Given the description of an element on the screen output the (x, y) to click on. 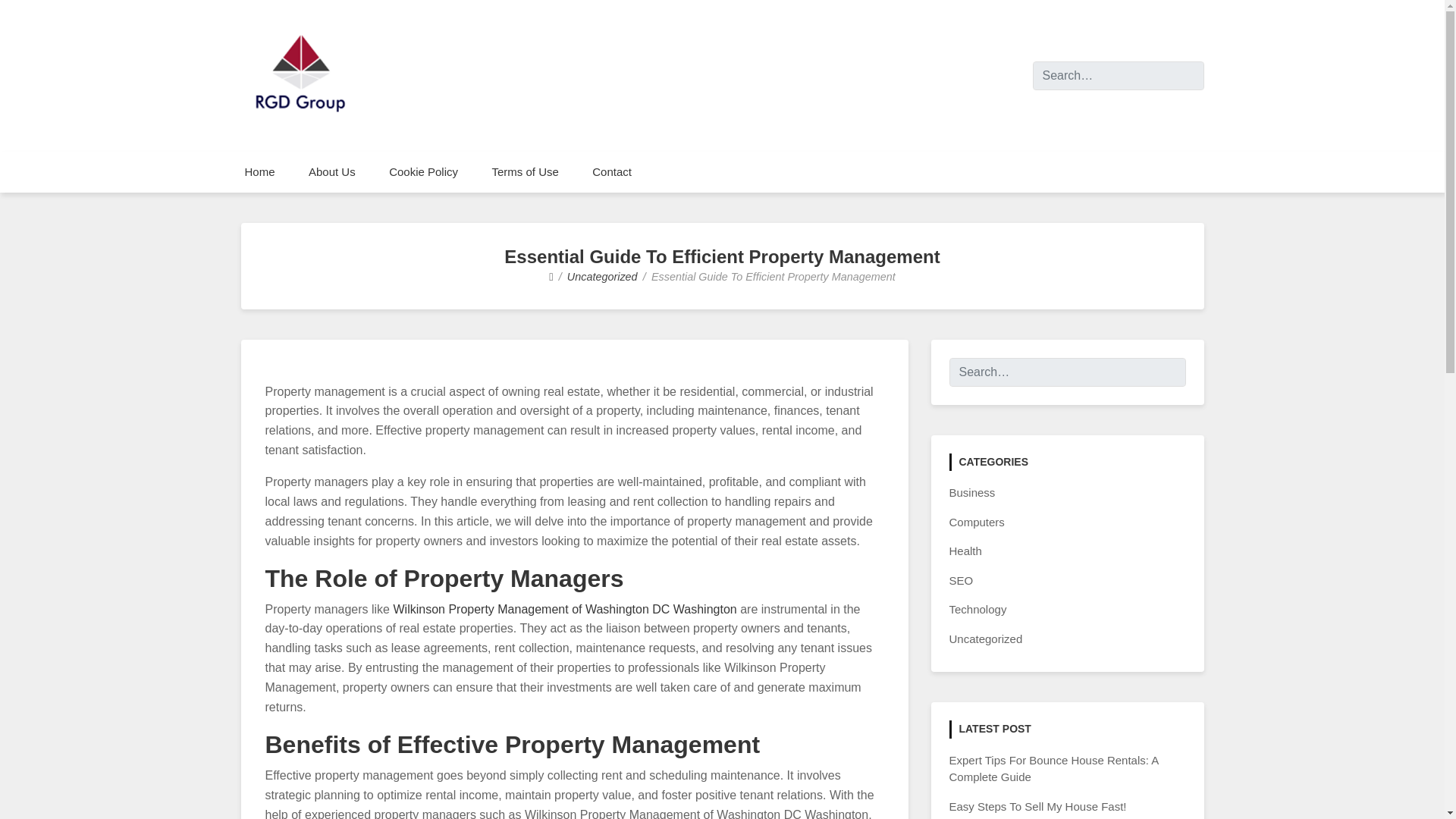
Technology (978, 608)
Expert Tips For Bounce House Rentals: A Complete Guide (1053, 768)
Home (258, 171)
Easy Steps To Sell My House Fast! (1037, 806)
Contact (611, 171)
Uncategorized (602, 276)
About Us (332, 171)
Computers (976, 521)
Cookie Policy (423, 171)
SEO (961, 580)
